Given the description of an element on the screen output the (x, y) to click on. 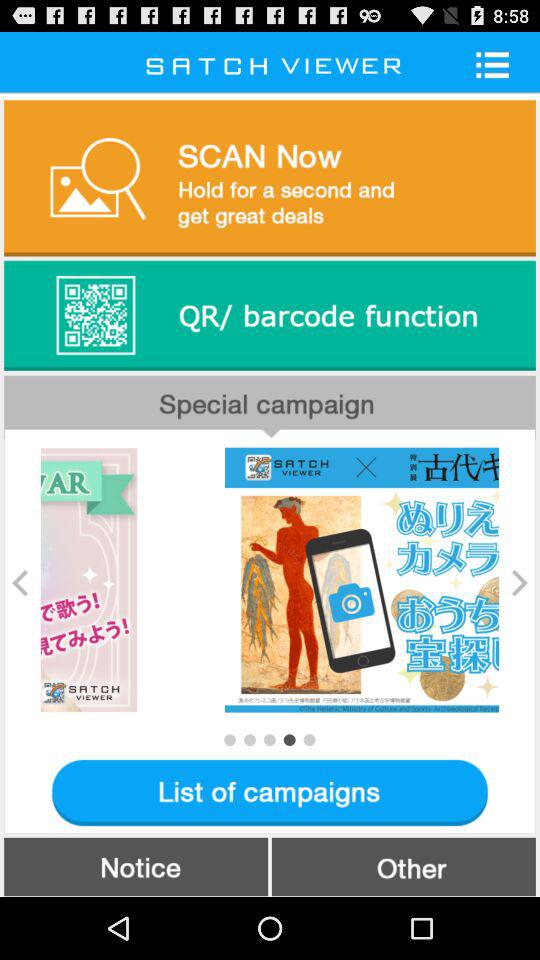
launch the icon at the top right corner (499, 63)
